Given the description of an element on the screen output the (x, y) to click on. 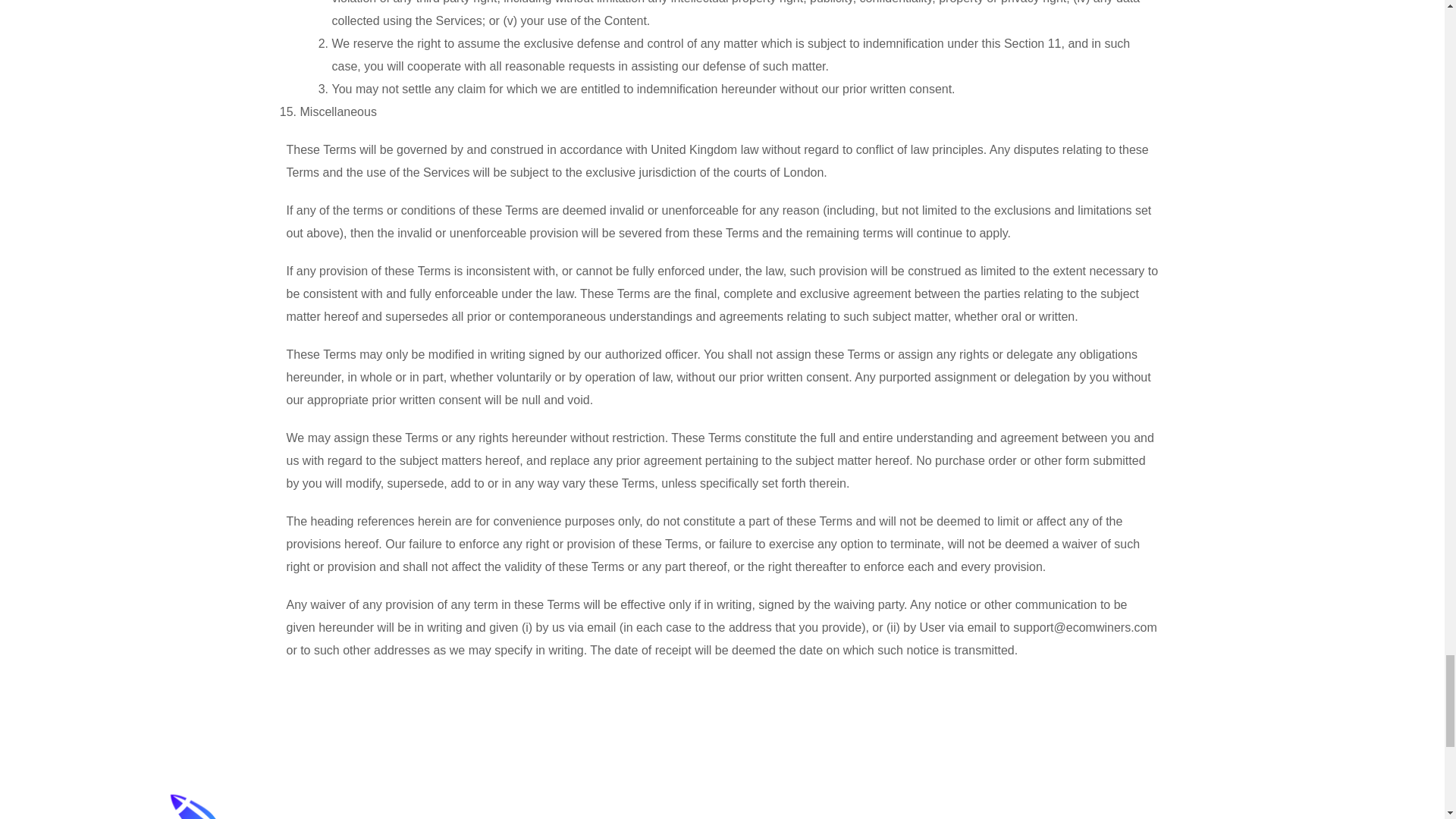
dropshipping winning products (213, 803)
